Given the description of an element on the screen output the (x, y) to click on. 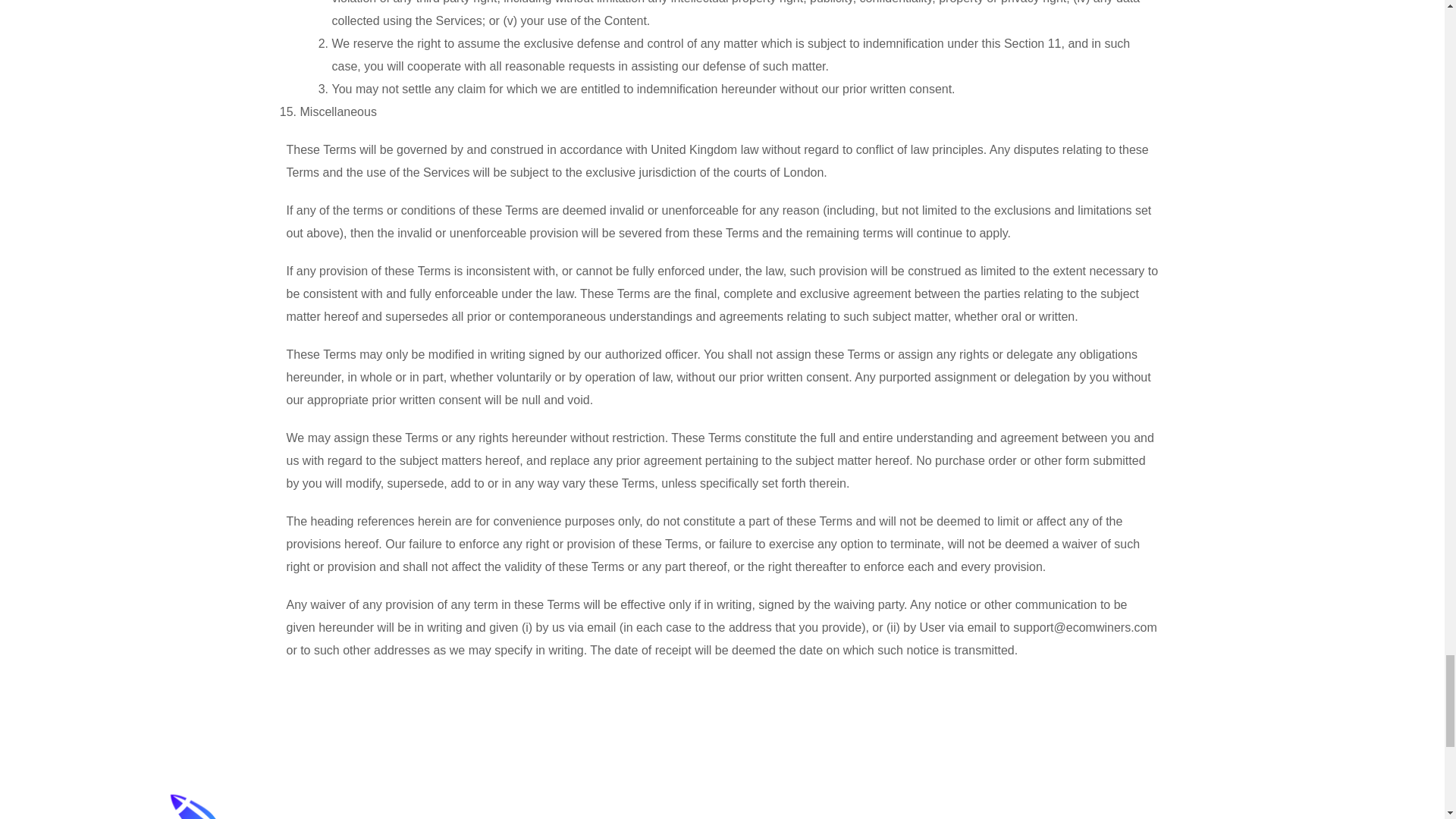
dropshipping winning products (213, 803)
